Given the description of an element on the screen output the (x, y) to click on. 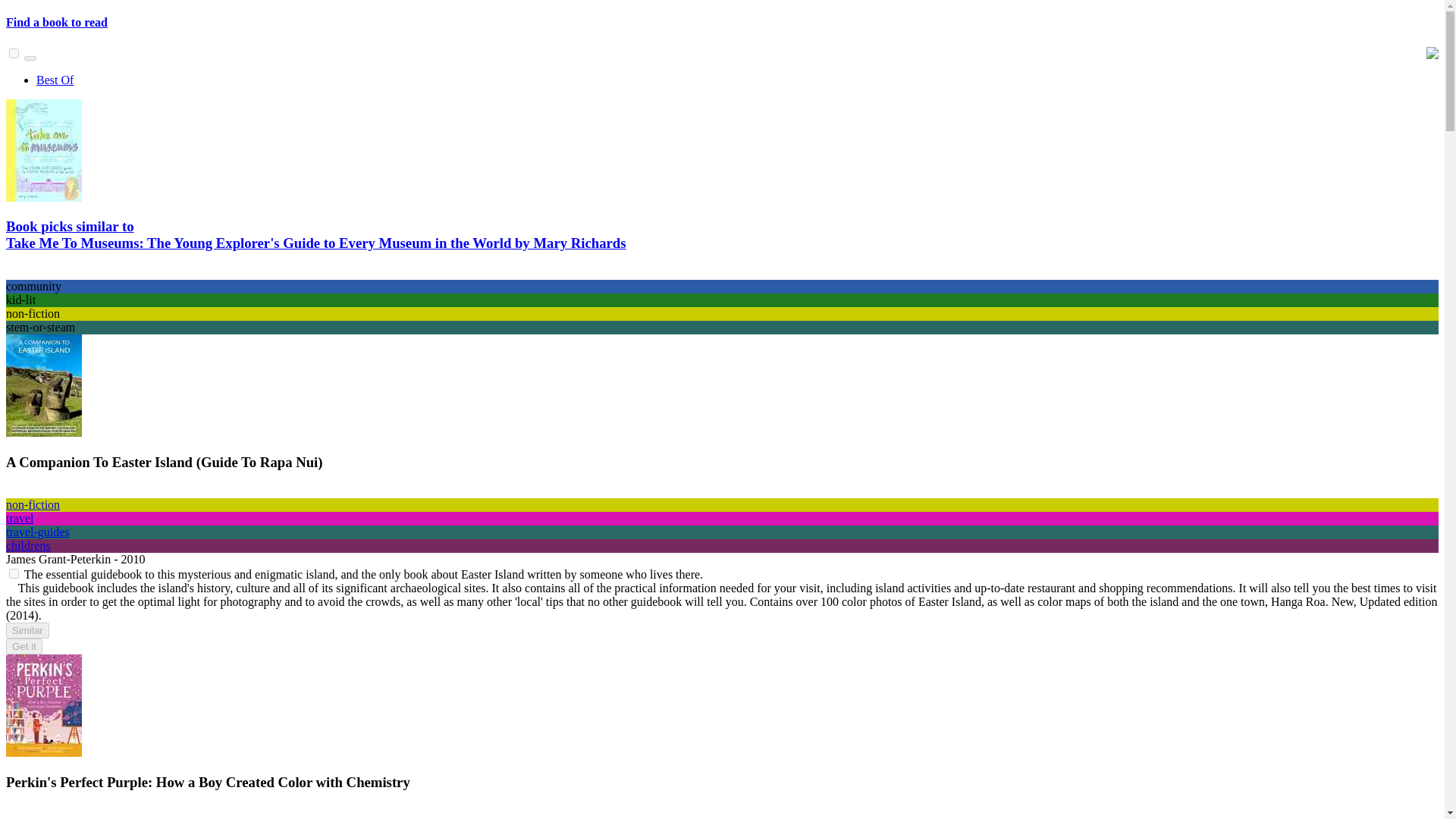
on (13, 53)
Get it (23, 646)
travel-guides (37, 531)
Find a book to read (56, 21)
non-fiction (32, 504)
childrens (27, 545)
Similar (27, 630)
Best Of (55, 79)
on (13, 573)
travel (19, 517)
